Given the description of an element on the screen output the (x, y) to click on. 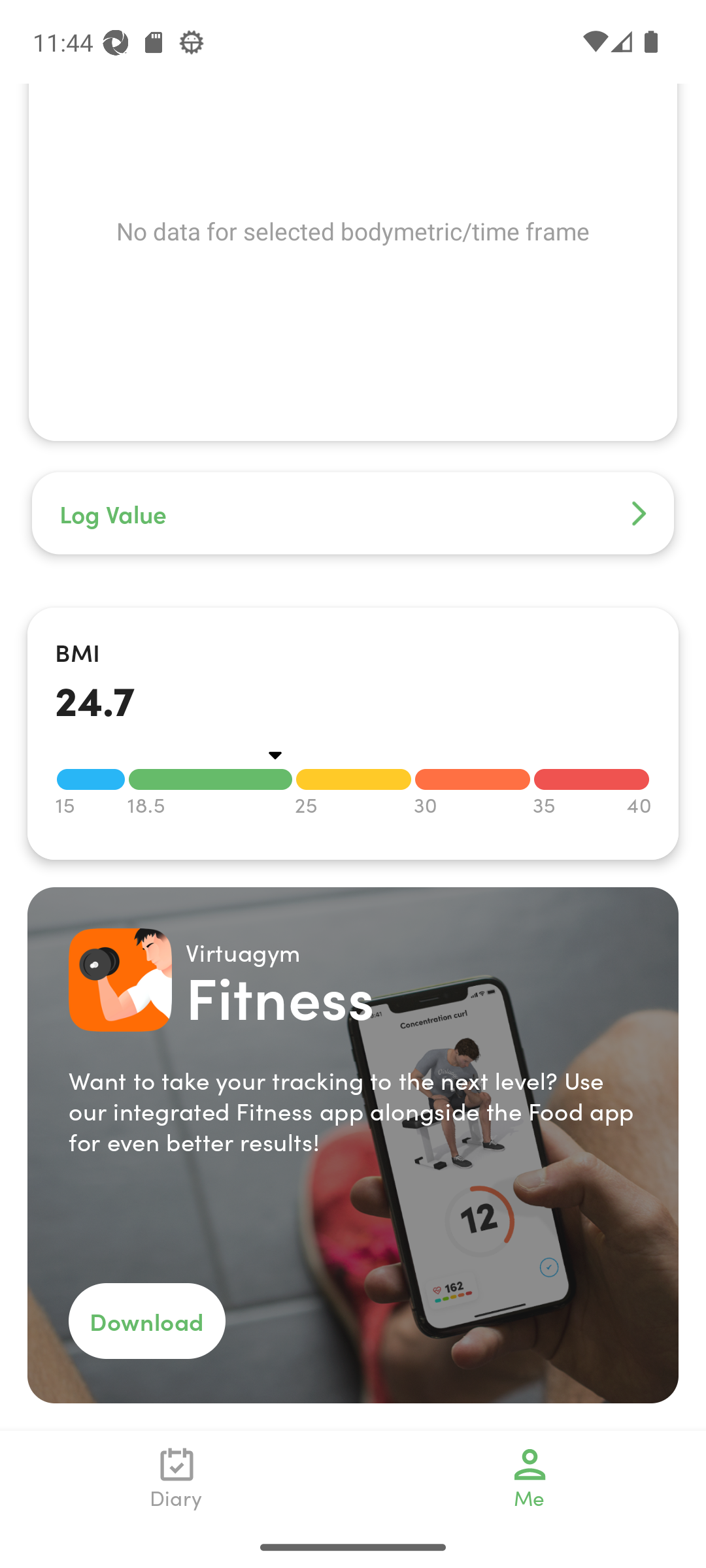
Log Value (353, 345)
Log Value (352, 513)
Download (146, 1320)
Diary navigation_icon (176, 1478)
